Given the description of an element on the screen output the (x, y) to click on. 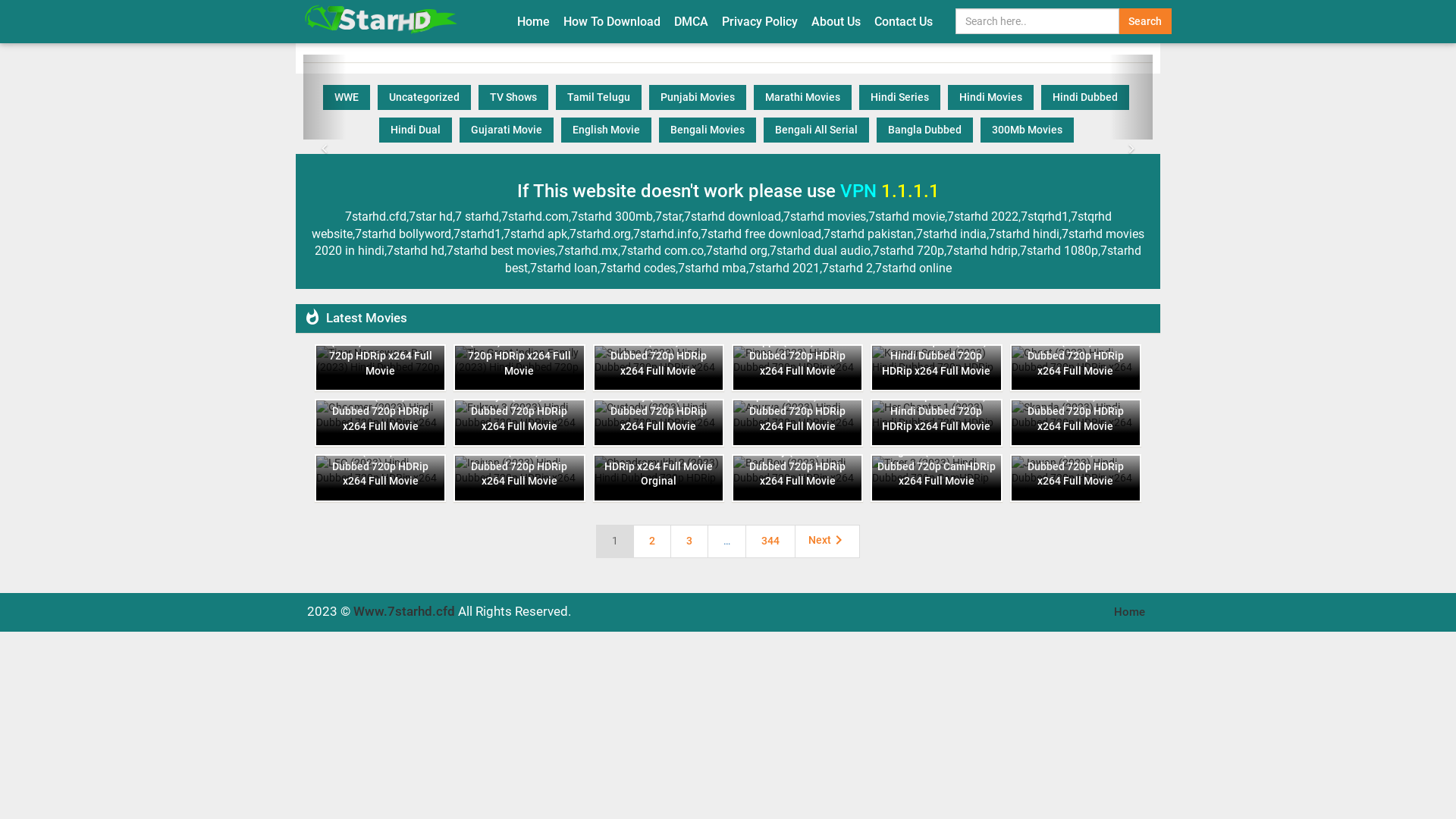
Hindi Series Element type: text (899, 96)
3 Element type: text (689, 541)
Tiger 3 (2023) Hindi Dubbed 720p CamHDRip x264 Full Movie Element type: hover (936, 477)
LEO (2023) Hindi Dubbed 720p HDRip x264 Full Movie Element type: hover (380, 477)
Home Element type: text (533, 21)
2 Element type: text (652, 541)
DMCA Element type: text (691, 21)
Ghoomer (2023) Hindi Dubbed 720p HDRip x264 Full Movie Element type: hover (380, 422)
Hindi Dubbed Element type: text (1085, 96)
Gujarati Movie Element type: text (506, 129)
Uncategorized Element type: text (423, 96)
Ghost (2023) Hindi Dubbed 720p HDRip x264 Full Movie Element type: hover (1075, 367)
Bengali All Serial Element type: text (815, 129)
Bangla Dubbed Element type: text (924, 129)
WWE Element type: text (346, 96)
Kannur Squad (2023) Hindi Dubbed 720p HDRip x264 Full Movie Element type: hover (936, 367)
Hindi Dual Element type: text (415, 129)
Tamil Telugu Element type: text (598, 96)
Custody (2023) Hindi Dubbed 720p HDRip x264 Full Movie Element type: hover (658, 422)
LEO (2023) Hindi Dubbed 720p HDRip x264 Full Movie Element type: text (380, 466)
Tiger 3 (2023) Hindi Dubbed 720p CamHDRip x264 Full Movie Element type: text (936, 466)
Sukhee (2023) Hindi Dubbed 720p HDRip x264 Full Movie Element type: hover (658, 367)
Bad Boy (2023) Hindi Dubbed 720p HDRip x264 Full Movie Element type: hover (797, 477)
How To Download Element type: text (611, 21)
If This website doesn't work please use VPN 1.1.1.1 Element type: text (728, 190)
Sukhee (2023) Hindi Dubbed 720p HDRip x264 Full Movie Element type: text (658, 356)
Fukrey 3 (2023) Hindi Dubbed 720p HDRip x264 Full Movie Element type: hover (519, 422)
Jawan (2023) Hindi Dubbed 720p HDRip x264 Full Movie Element type: text (1075, 466)
Kannur Squad (2023) Hindi Dubbed 720p HDRip x264 Full Movie Element type: text (936, 356)
300Mb Movies Element type: text (1026, 129)
Her Chapter 1 (2023) Hindi Dubbed 720p HDRip x264 Full Movie Element type: text (936, 411)
Bengali Movies Element type: text (706, 129)
Apurva (2023) Hindi Dubbed 720p HDRip x264 Full Movie Element type: text (797, 411)
Privacy Policy Element type: text (759, 21)
Ghoomer (2023) Hindi Dubbed 720p HDRip x264 Full Movie Element type: text (380, 411)
Iraivan (2023) Hindi Dubbed 720p HDRip x264 Full Movie Element type: hover (519, 477)
Custody (2023) Hindi Dubbed 720p HDRip x264 Full Movie Element type: text (658, 411)
About Us Element type: text (835, 21)
Contact Us Element type: text (903, 21)
TV Shows Element type: text (513, 96)
English Movie Element type: text (606, 129)
344 Element type: text (770, 541)
Iraivan (2023) Hindi Dubbed 720p HDRip x264 Full Movie Element type: text (519, 466)
Pippa (2023) Hindi Dubbed 720p HDRip x264 Full Movie Element type: text (797, 356)
Ghost (2023) Hindi Dubbed 720p HDRip x264 Full Movie Element type: text (1075, 356)
Hindi Movies Element type: text (990, 96)
Her Chapter 1 (2023) Hindi Dubbed 720p HDRip x264 Full Movie Element type: hover (936, 422)
Bad Boy (2023) Hindi Dubbed 720p HDRip x264 Full Movie Element type: text (797, 466)
Punjabi Movies Element type: text (697, 96)
Apurva (2023) Hindi Dubbed 720p HDRip x264 Full Movie Element type: hover (797, 422)
Pippa (2023) Hindi Dubbed 720p HDRip x264 Full Movie Element type: hover (797, 367)
Jawan (2023) Hindi Dubbed 720p HDRip x264 Full Movie Element type: hover (1075, 477)
Skanda (2023) Hindi Dubbed 720p HDRip x264 Full Movie Element type: hover (1075, 422)
Marathi Movies Element type: text (802, 96)
Fukrey 3 (2023) Hindi Dubbed 720p HDRip x264 Full Movie Element type: text (519, 411)
Skanda (2023) Hindi Dubbed 720p HDRip x264 Full Movie Element type: text (1075, 411)
Home Element type: text (1129, 611)
